Given the description of an element on the screen output the (x, y) to click on. 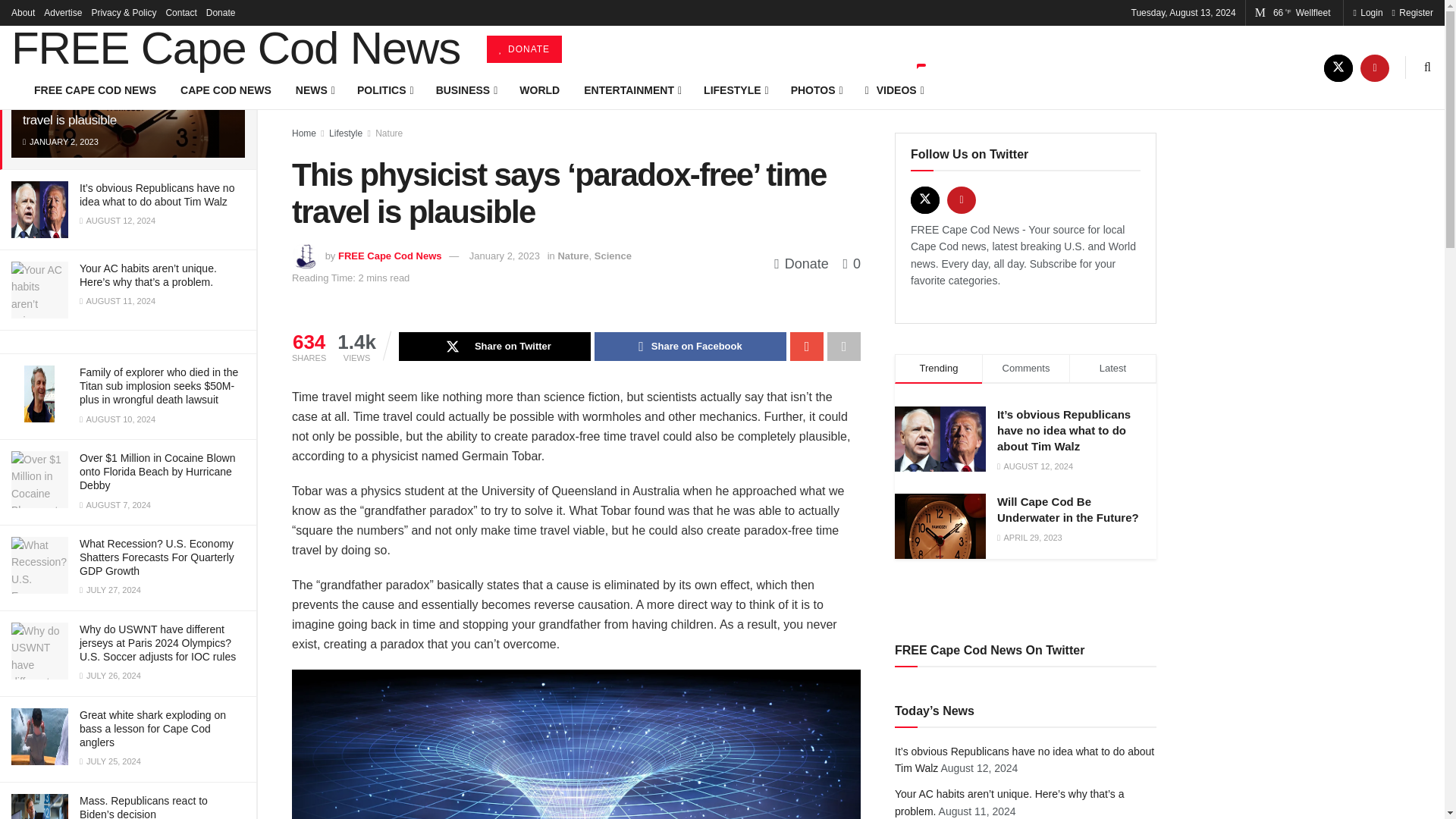
DONATE (524, 49)
Contact (180, 12)
Filter (227, 13)
Donate (220, 12)
Register (1411, 12)
FREE Cape Cod News (235, 48)
Login (1366, 12)
